Given the description of an element on the screen output the (x, y) to click on. 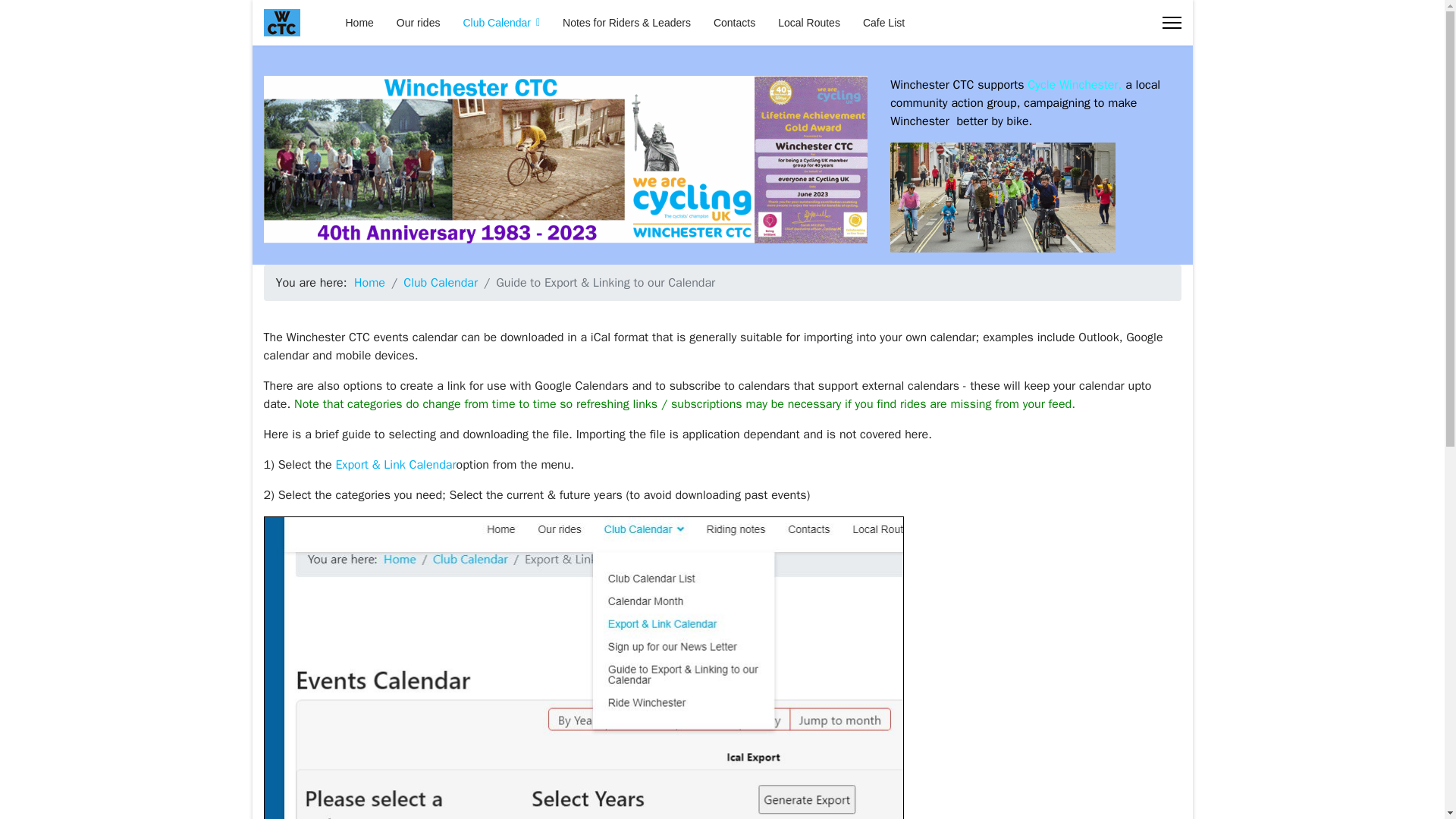
Local Routes (809, 22)
Cycle Wincheste (1070, 84)
Our rides (418, 22)
Cafe List (877, 22)
Home (369, 282)
Home (358, 22)
Contacts (734, 22)
Club Calendar (501, 22)
Club Calendar (440, 282)
